Given the description of an element on the screen output the (x, y) to click on. 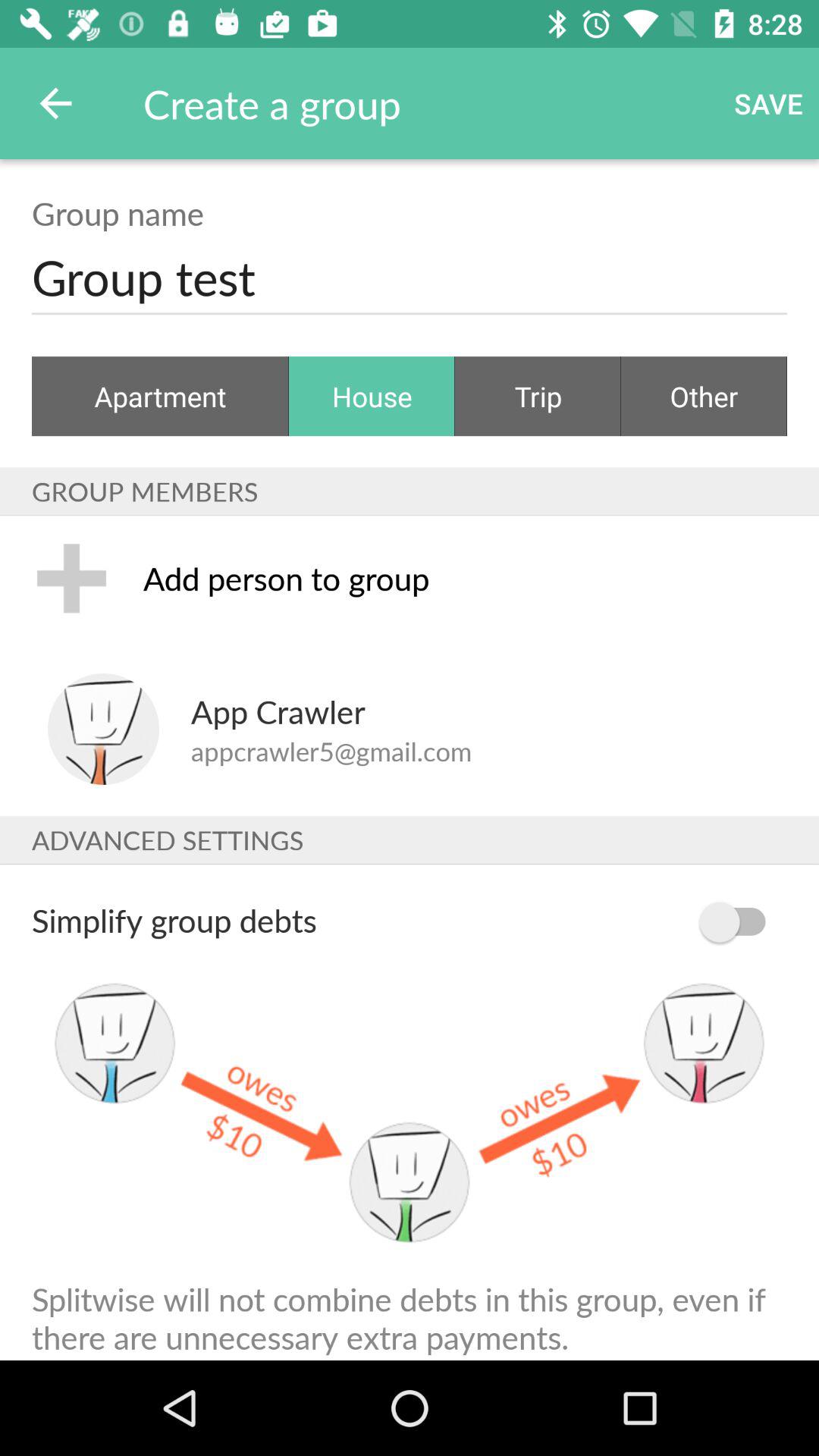
turn off icon to the left of add person to icon (71, 578)
